Given the description of an element on the screen output the (x, y) to click on. 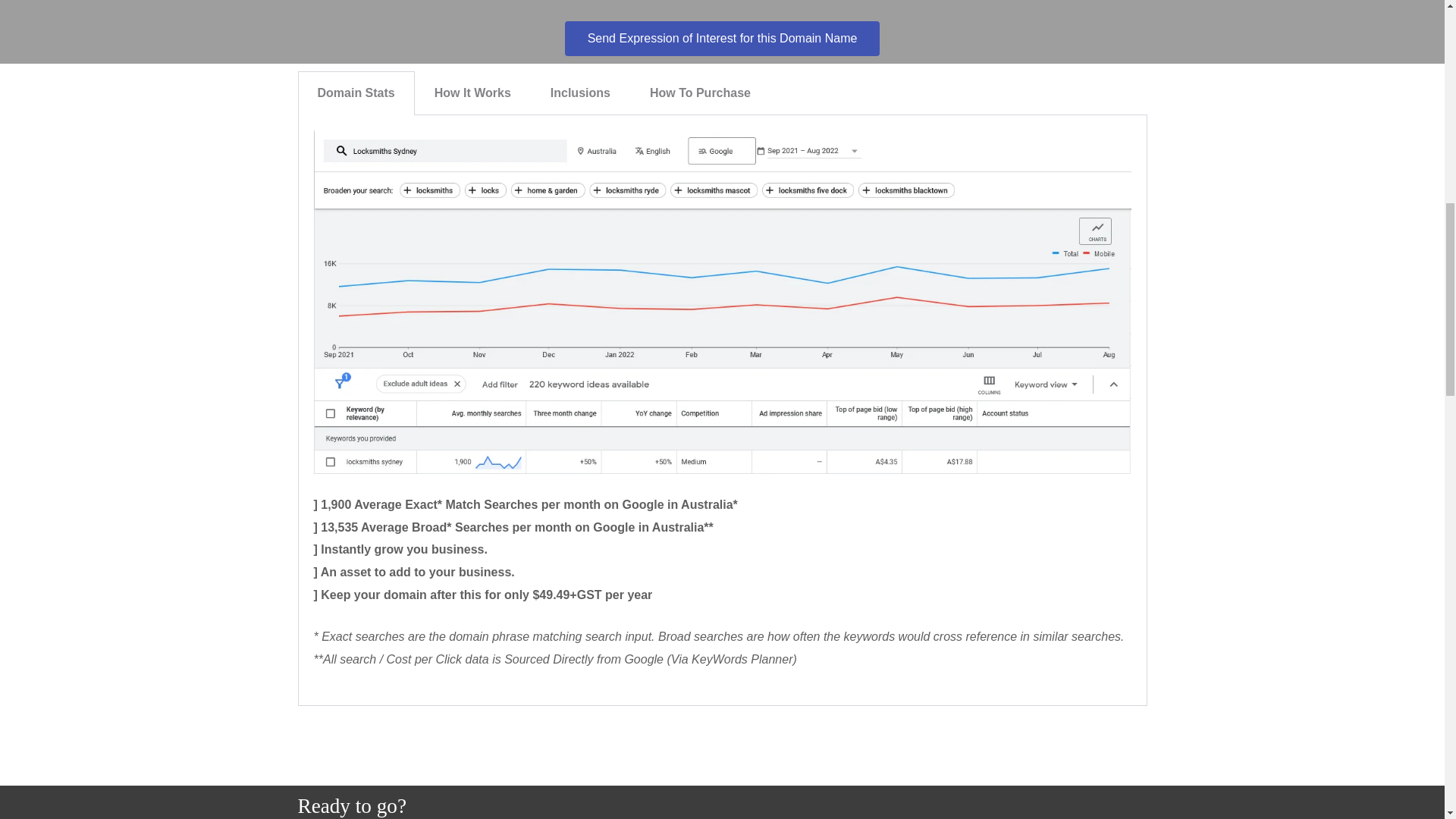
Send Expression of Interest for this Domain Name (722, 38)
